Given the description of an element on the screen output the (x, y) to click on. 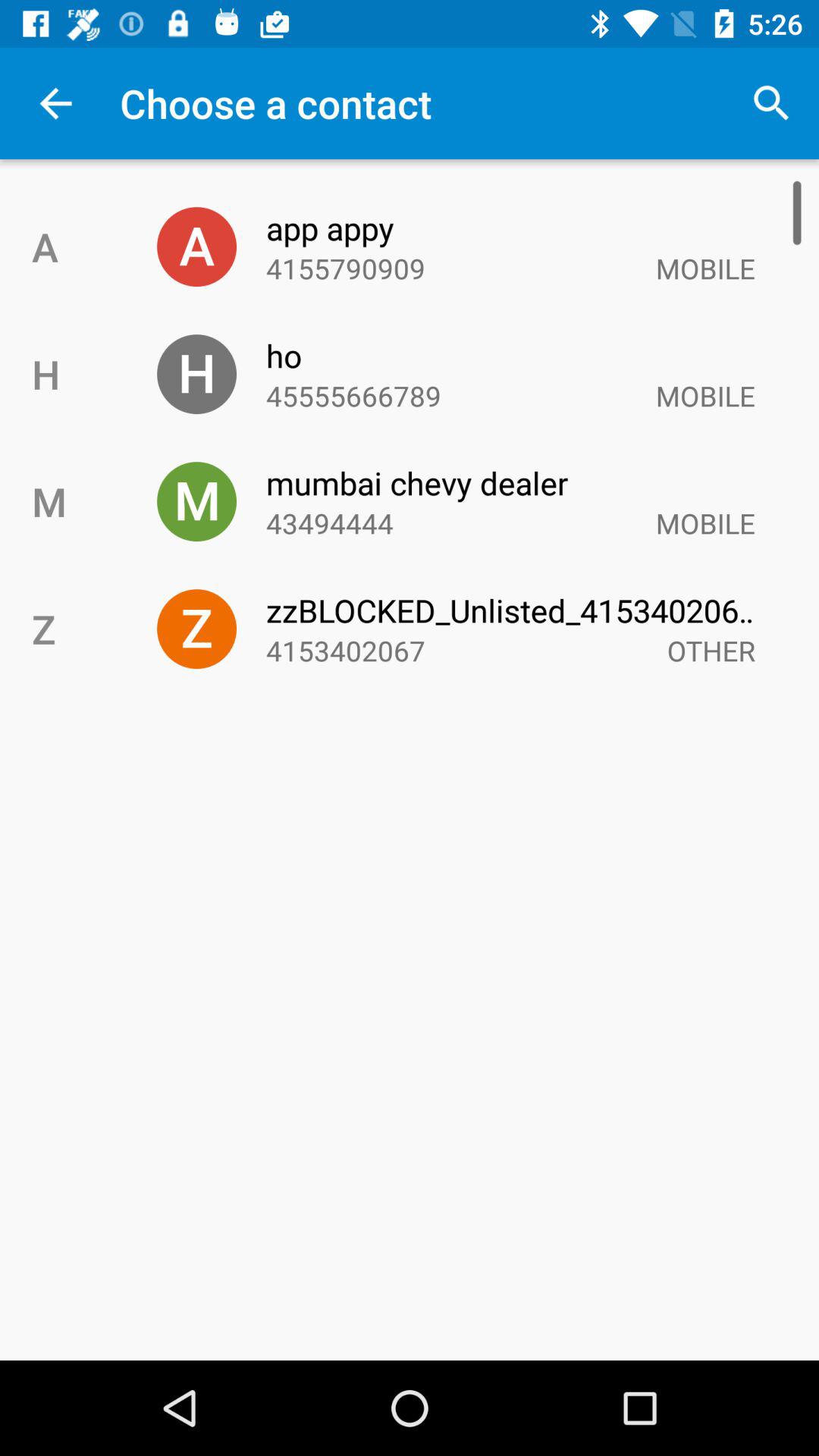
open the icon above app appy app (771, 103)
